Given the description of an element on the screen output the (x, y) to click on. 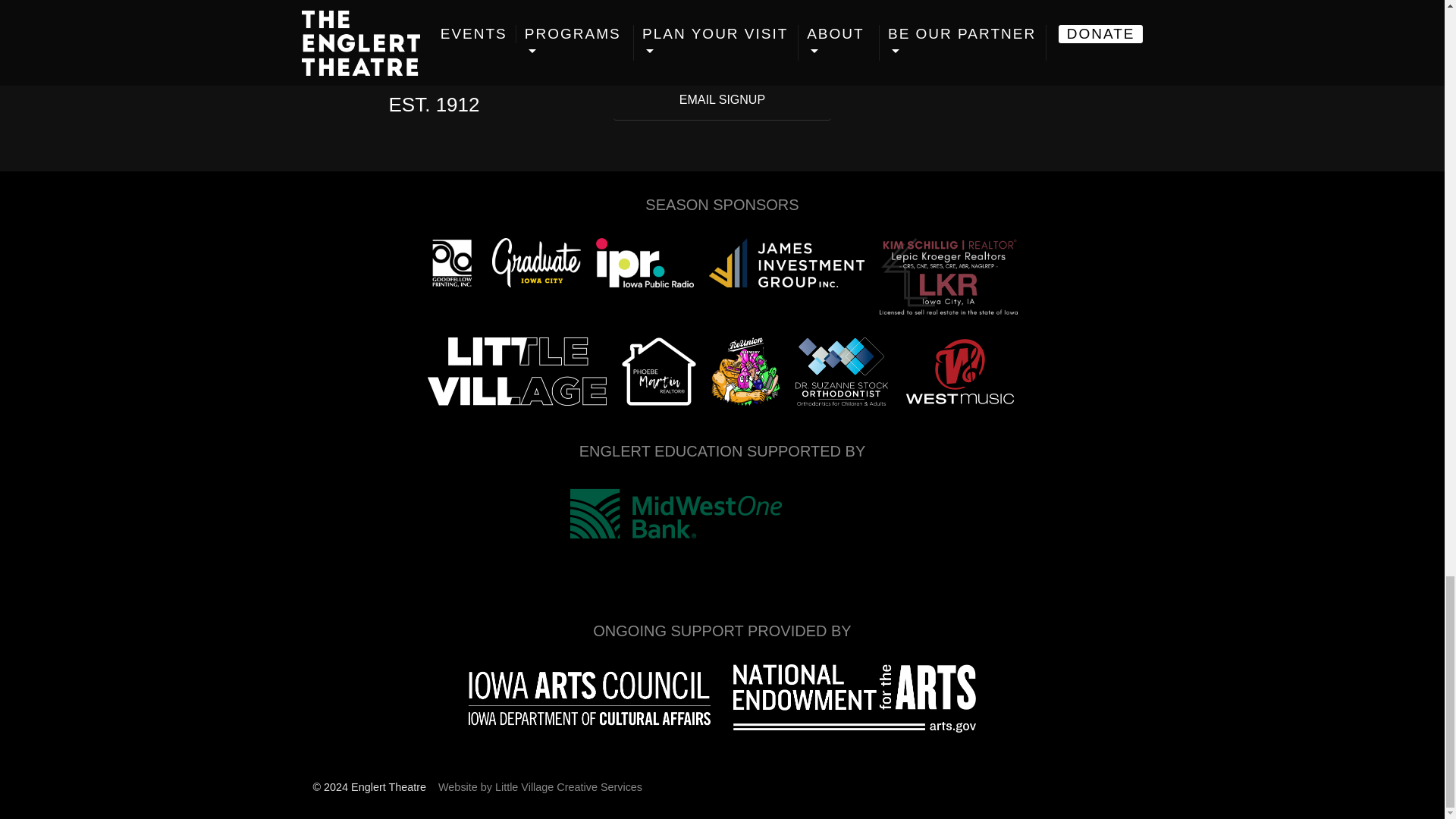
EST. 1912 (433, 104)
